Given the description of an element on the screen output the (x, y) to click on. 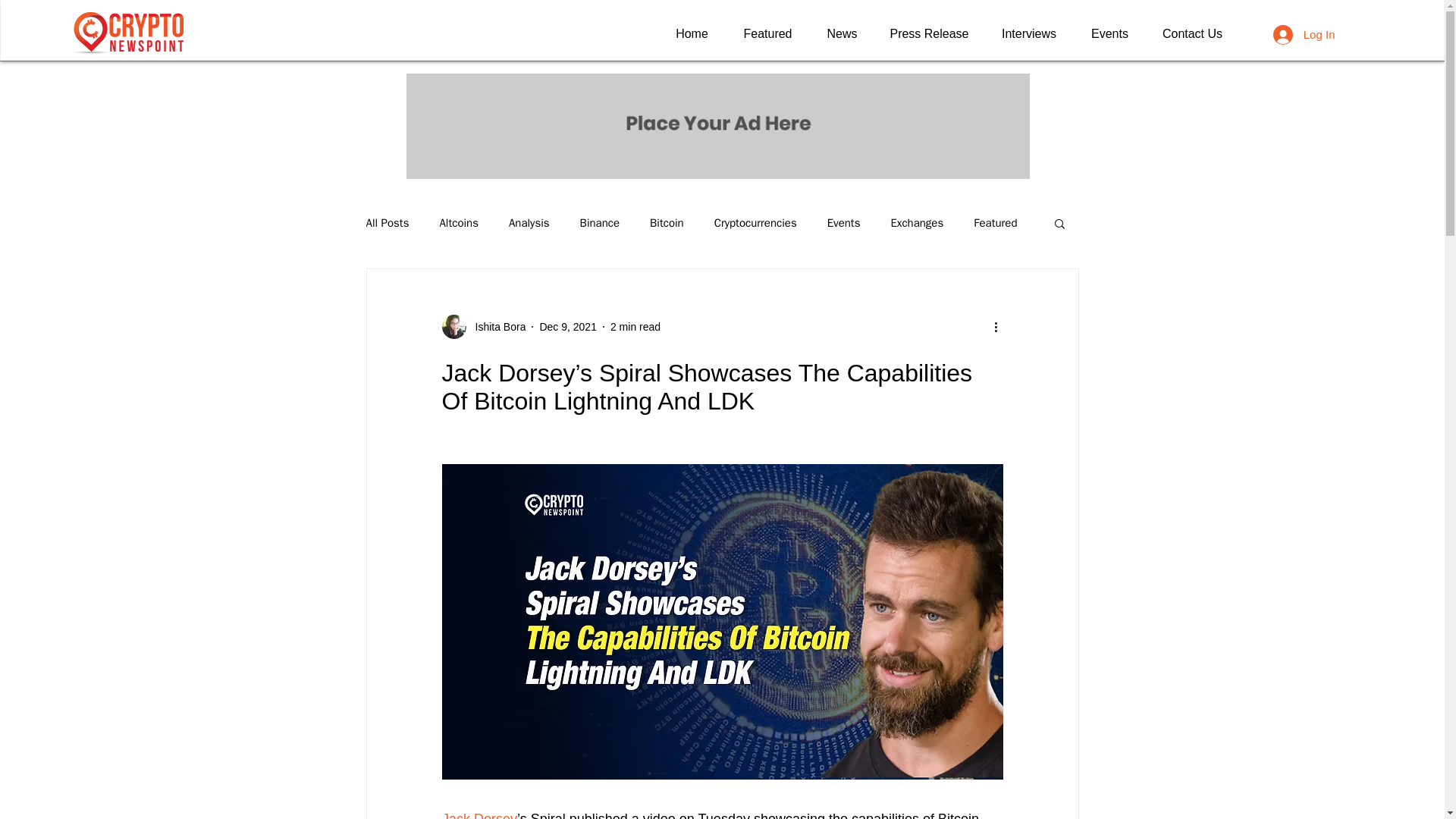
Analysis (529, 222)
Home (692, 34)
Cryptocurrencies (755, 222)
Featured (767, 34)
Featured (995, 222)
Bitcoin (666, 222)
Contact Us (1191, 34)
Ishita Bora (495, 326)
Altcoins (459, 222)
Dec 9, 2021 (567, 326)
